Given the description of an element on the screen output the (x, y) to click on. 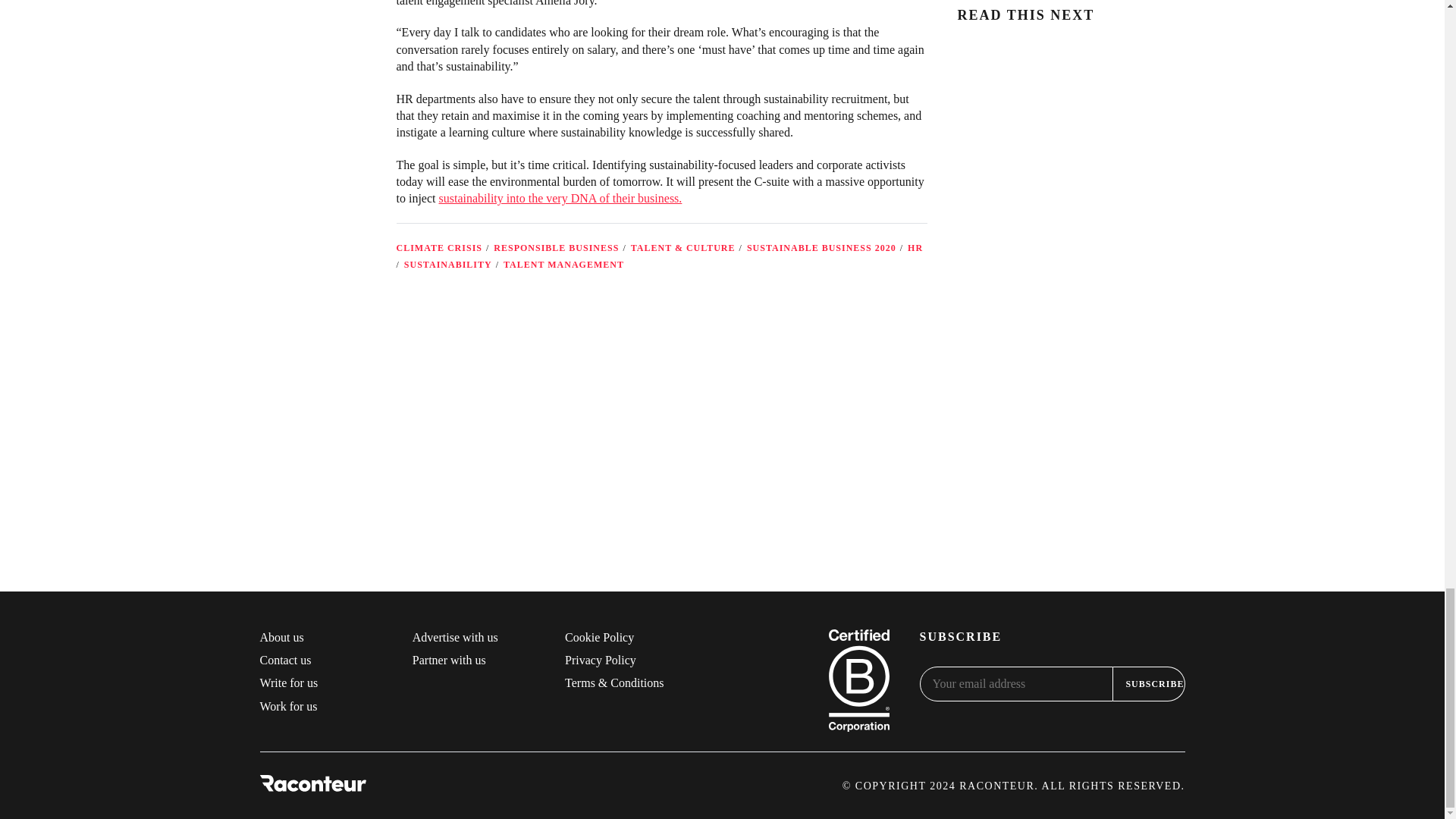
Raconteur (312, 785)
Subscribe (1149, 683)
Cookie Policy (598, 636)
Partner with us (449, 659)
Work for us (288, 706)
Contact us (285, 659)
HR (915, 247)
Subscribe (1149, 683)
TALENT MANAGEMENT (563, 264)
Subscribe (867, 492)
